Given the description of an element on the screen output the (x, y) to click on. 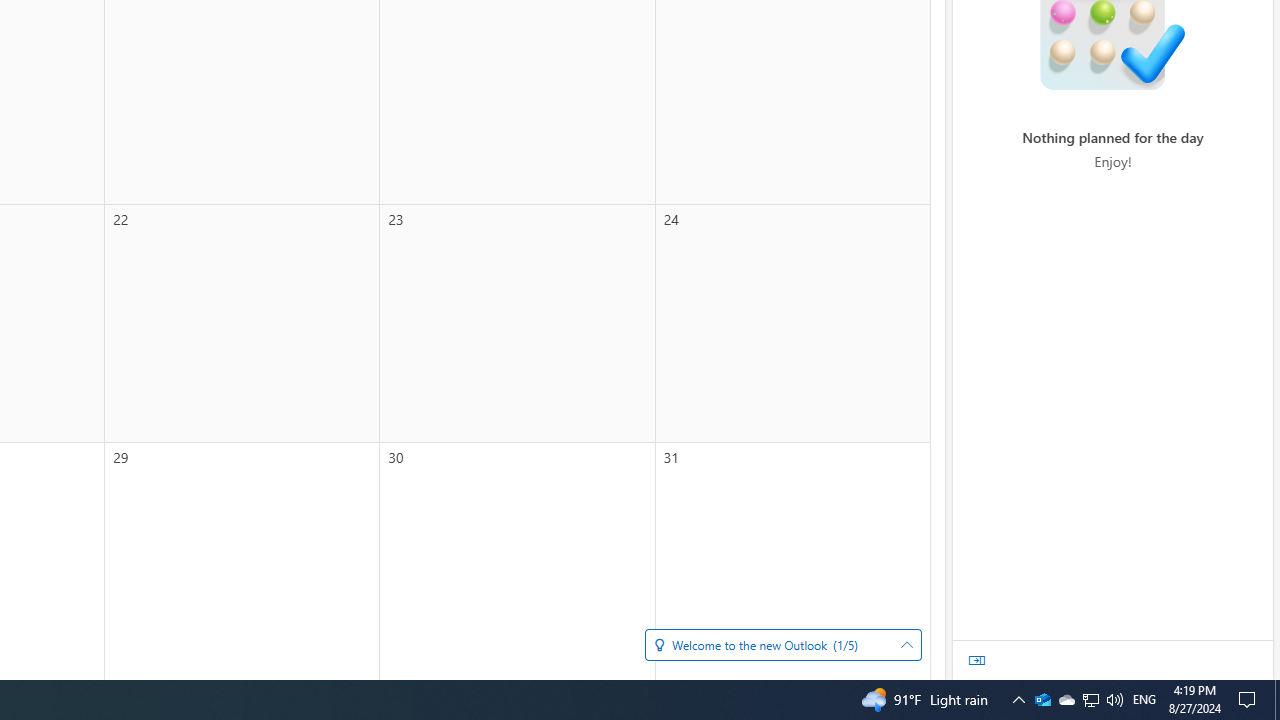
Microsoft Outlook (1042, 699)
System Promoted Notification Area (1066, 699)
Notification Chevron (1042, 699)
Action Center, No new notifications (1018, 699)
Show desktop (1250, 699)
Q2790: 100% (1277, 699)
Tray Input Indicator - English (United States) (1114, 699)
User Promoted Notification Area (1144, 699)
